Given the description of an element on the screen output the (x, y) to click on. 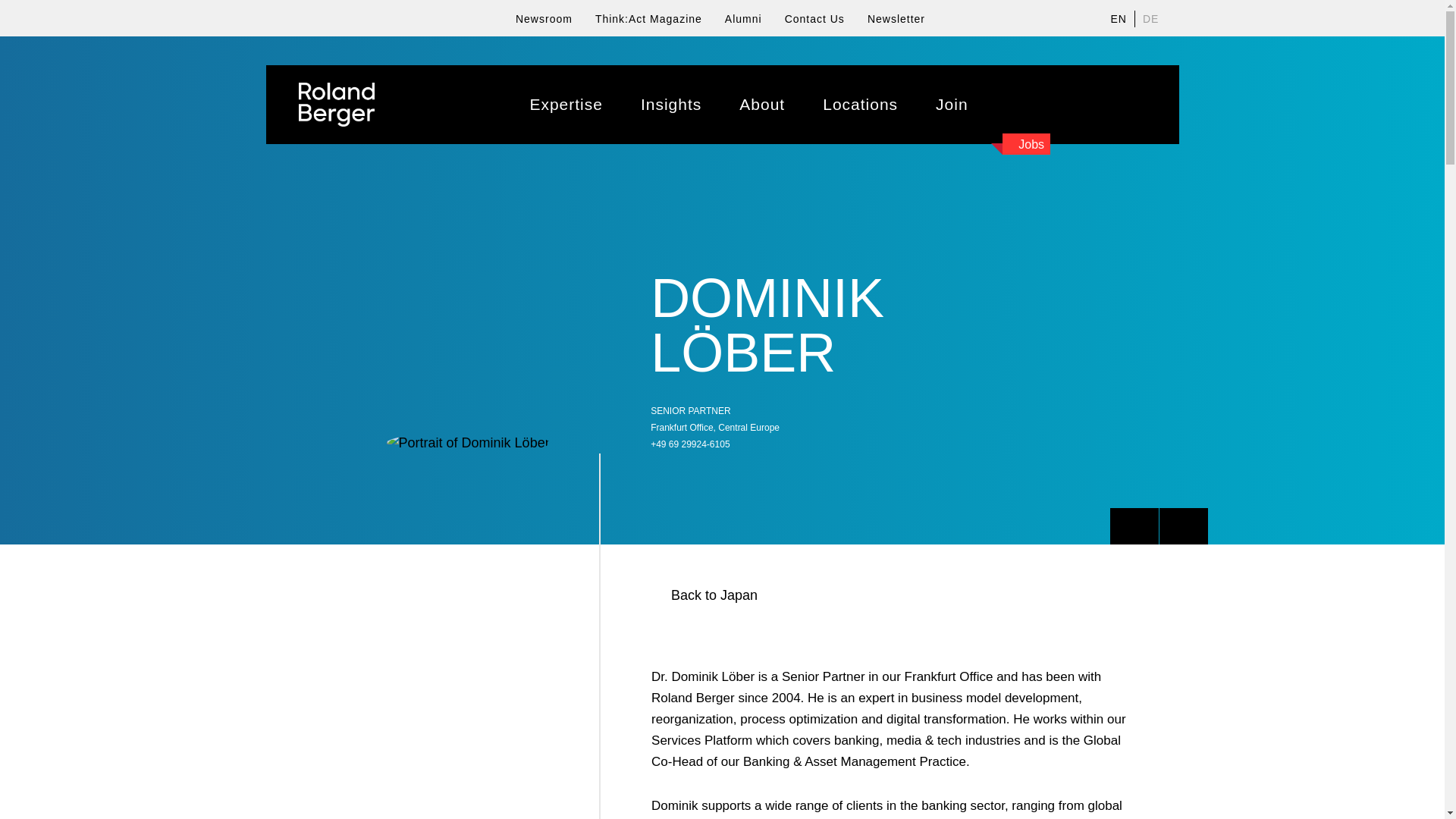
Insights (670, 105)
Expertise (565, 105)
About (761, 105)
Expertise (565, 105)
Locations (860, 105)
Roland Berger (336, 104)
Join (952, 105)
